Given the description of an element on the screen output the (x, y) to click on. 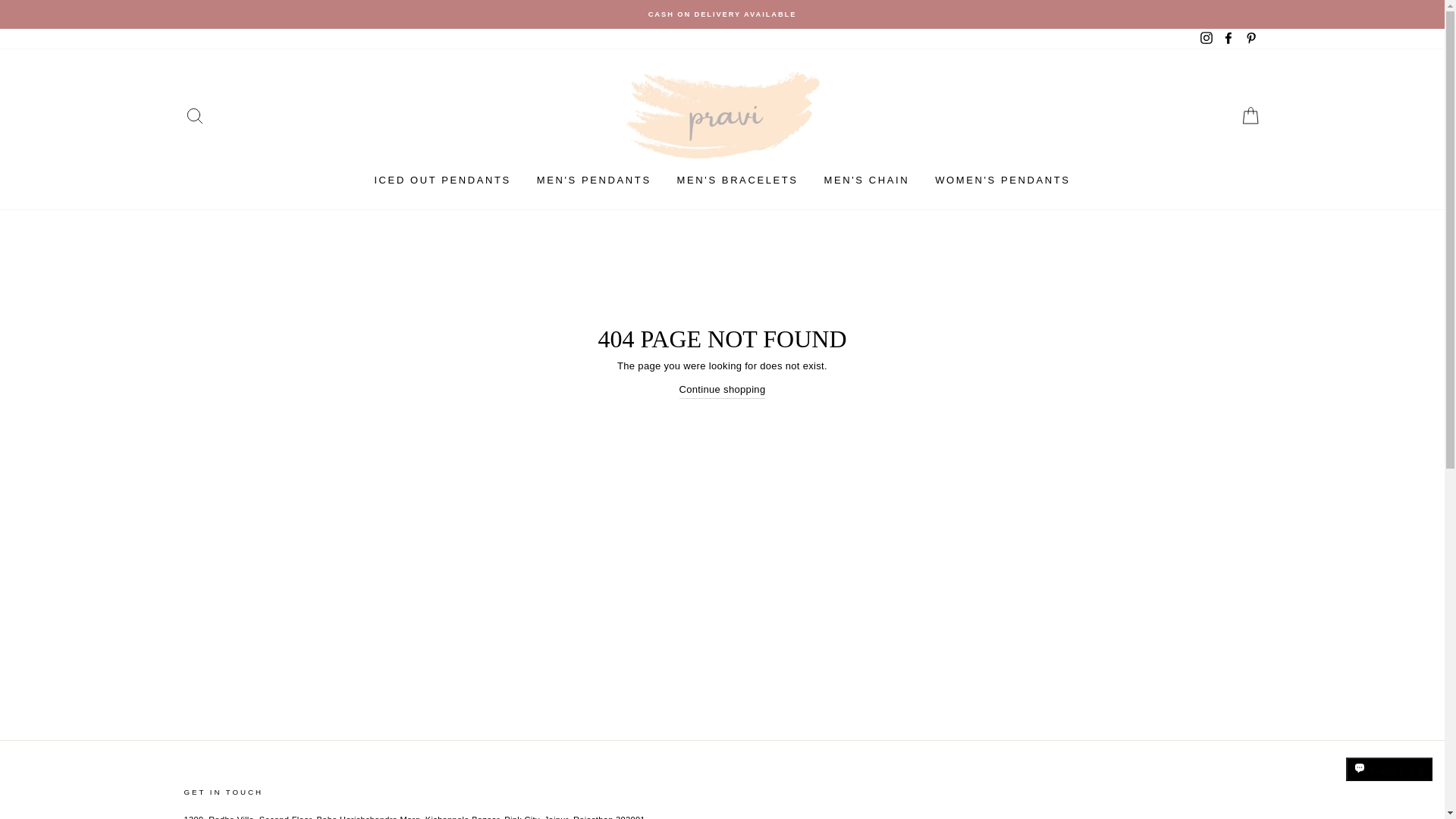
ICED OUT PENDANTS (441, 180)
CART (1249, 115)
MEN'S CHAIN (866, 180)
WOMEN'S PENDANTS (1002, 180)
Pravi Jewels on Facebook (1228, 38)
Continue shopping (722, 390)
MEN'S BRACELETS (737, 180)
Instagram (1205, 38)
Pravi Jewels on Pinterest (1250, 38)
